Given the description of an element on the screen output the (x, y) to click on. 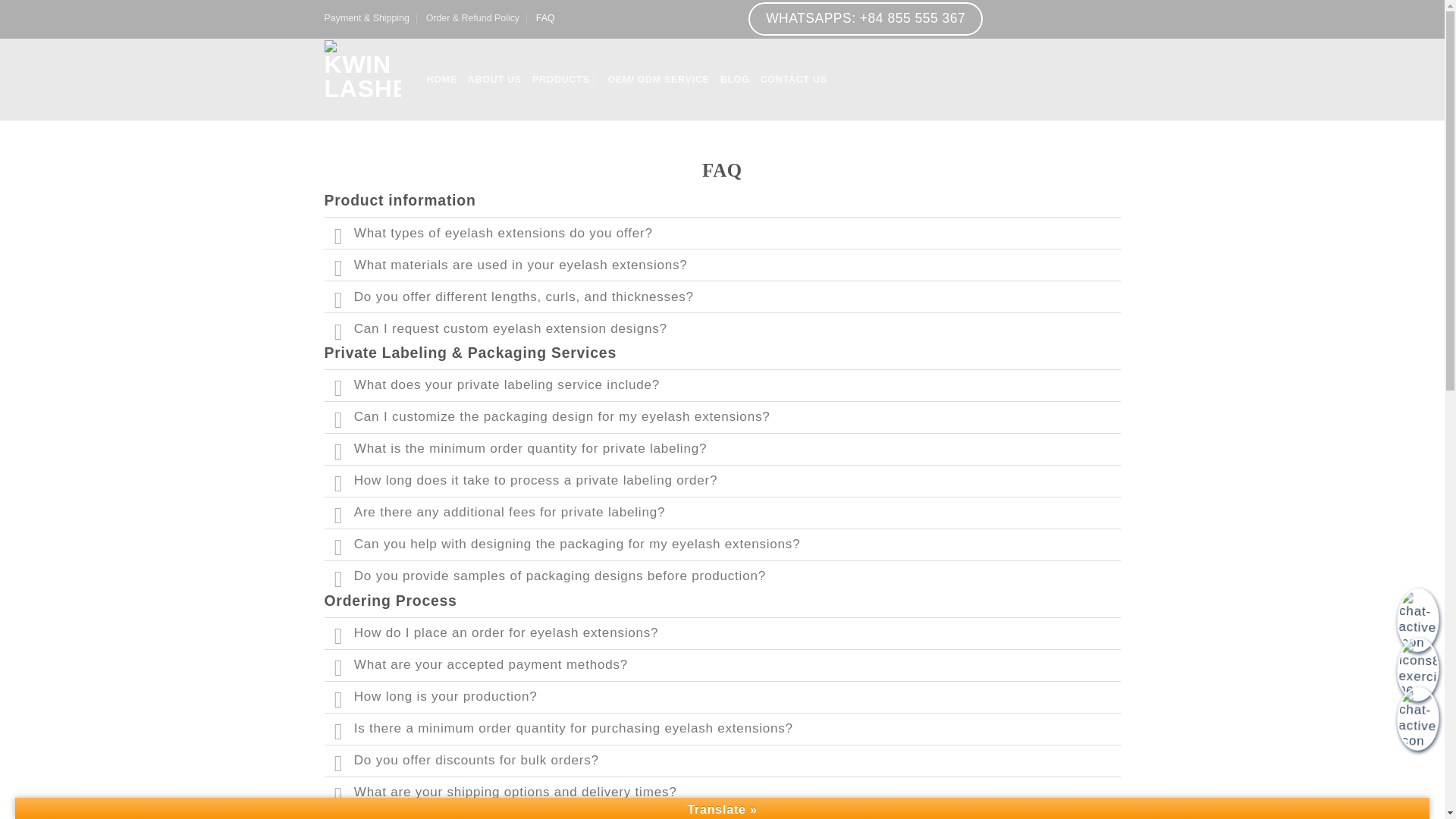
PRODUCTS (564, 79)
HOME (441, 79)
What does your private labeling service include? (722, 385)
Can I request custom eyelash extension designs? (722, 327)
Do you offer different lengths, curls, and thicknesses? (722, 296)
French (1016, 6)
BLOG (734, 79)
What materials are used in your eyelash extensions? (722, 264)
German (1032, 6)
Spanish (1061, 6)
